Given the description of an element on the screen output the (x, y) to click on. 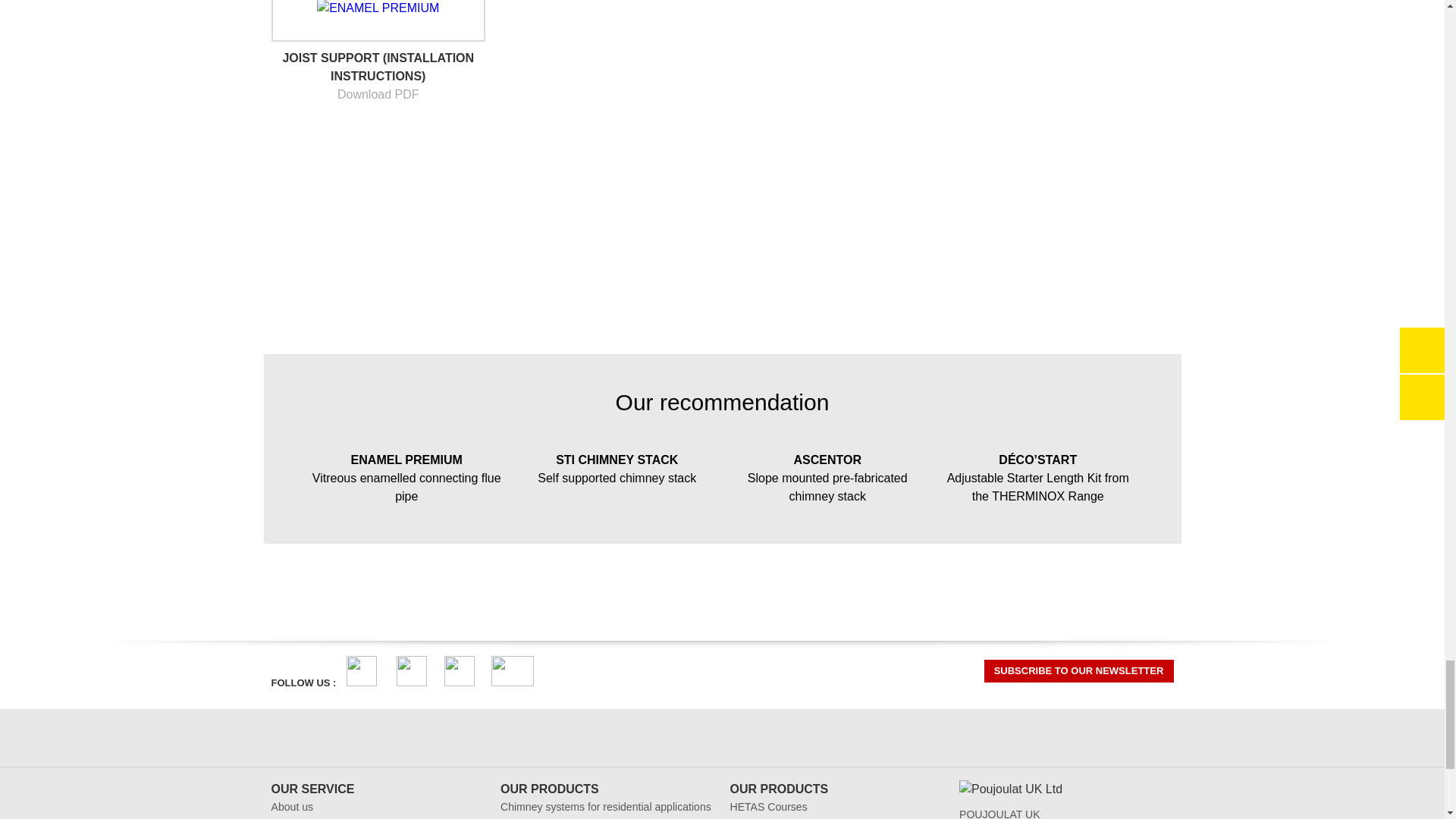
STI Chimney stack (617, 465)
Enamel Premium (406, 474)
Ascentor (827, 474)
SUBSCRIBE TO OUR NEWSLETTER (1078, 671)
